Given the description of an element on the screen output the (x, y) to click on. 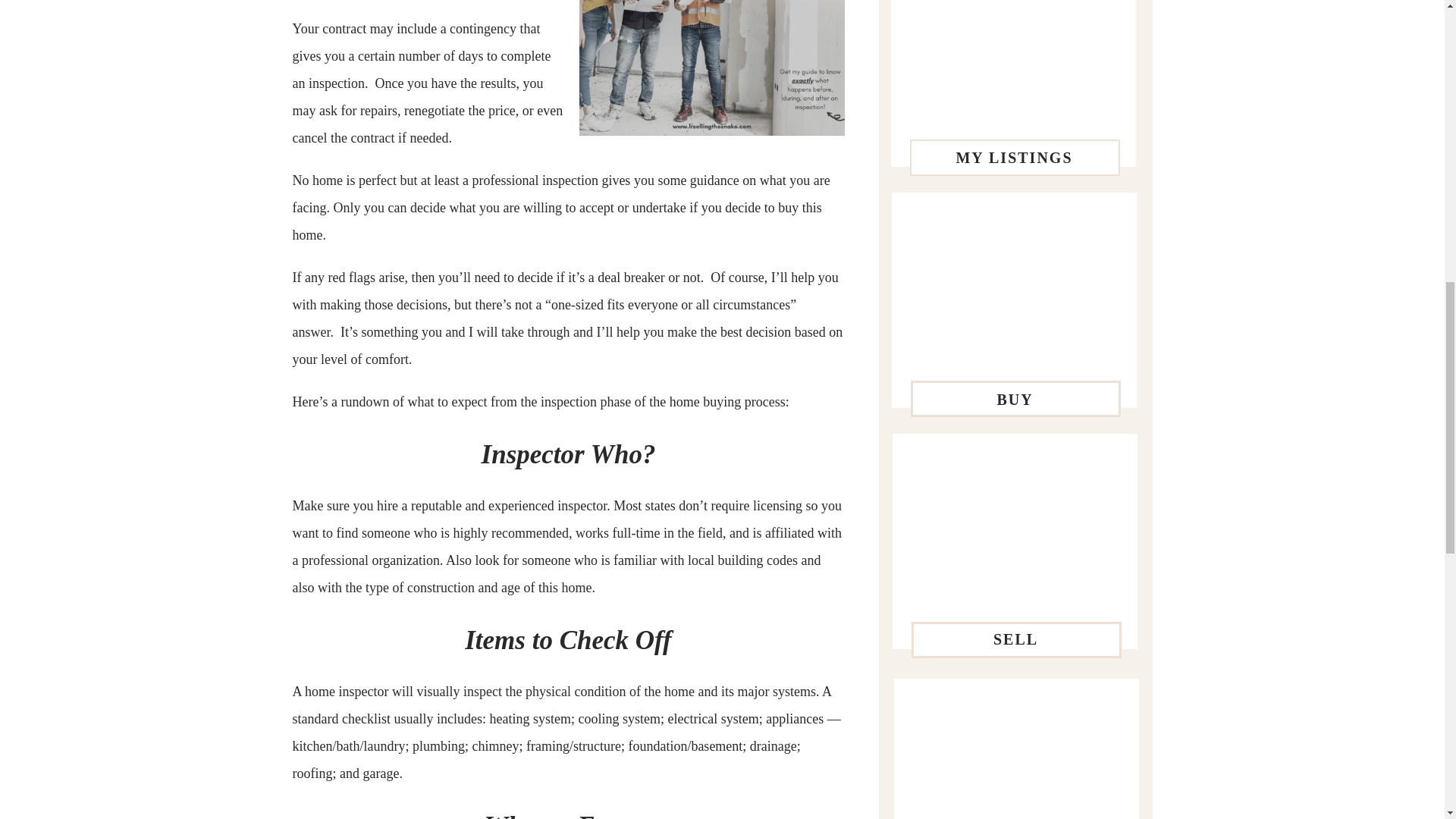
MY LISTINGS (1013, 158)
BUY (1015, 399)
SELL (1015, 641)
